Given the description of an element on the screen output the (x, y) to click on. 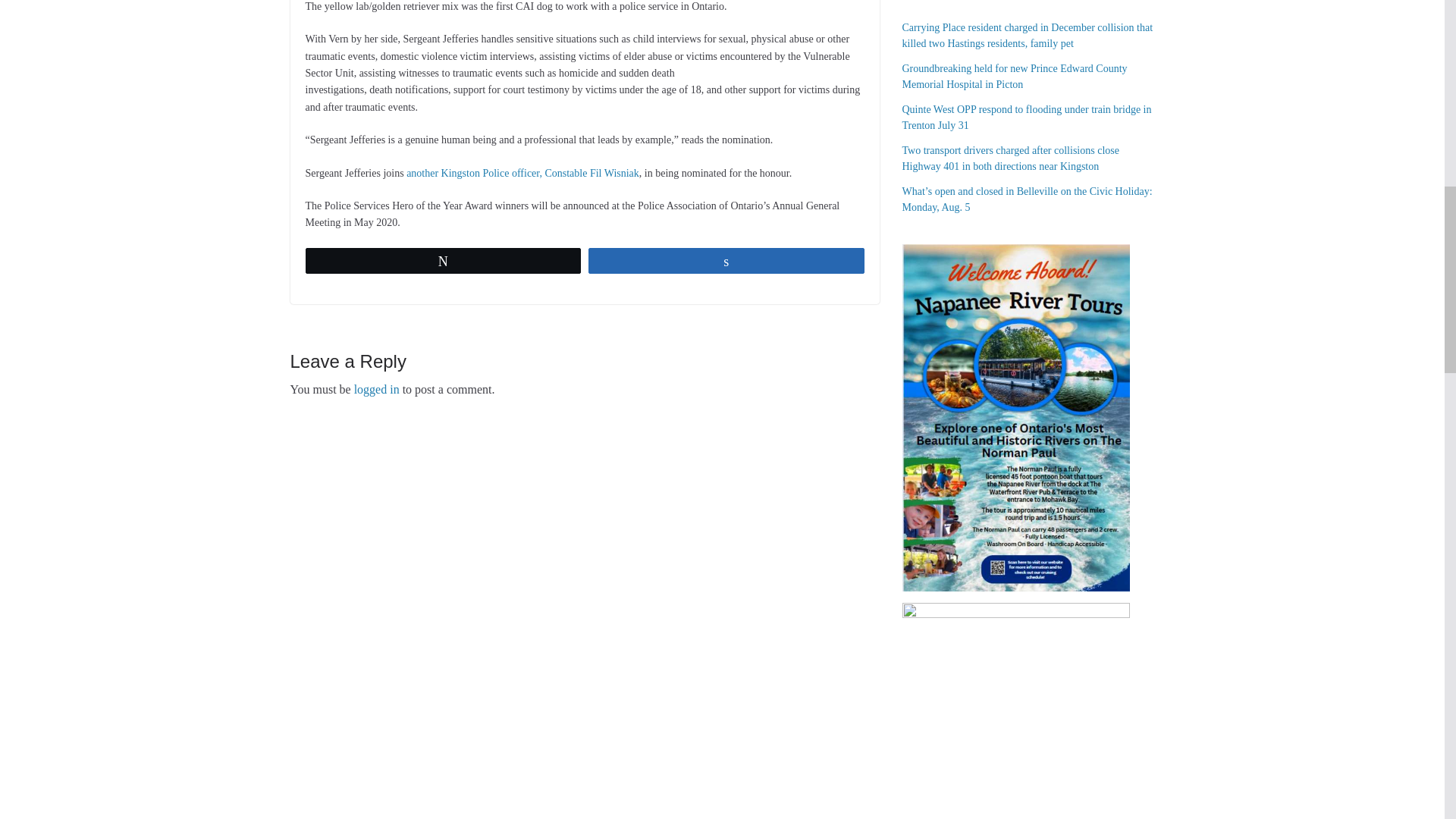
logged in (375, 389)
another Kingston Police officer, Constable Fil Wisniak (522, 173)
